Given the description of an element on the screen output the (x, y) to click on. 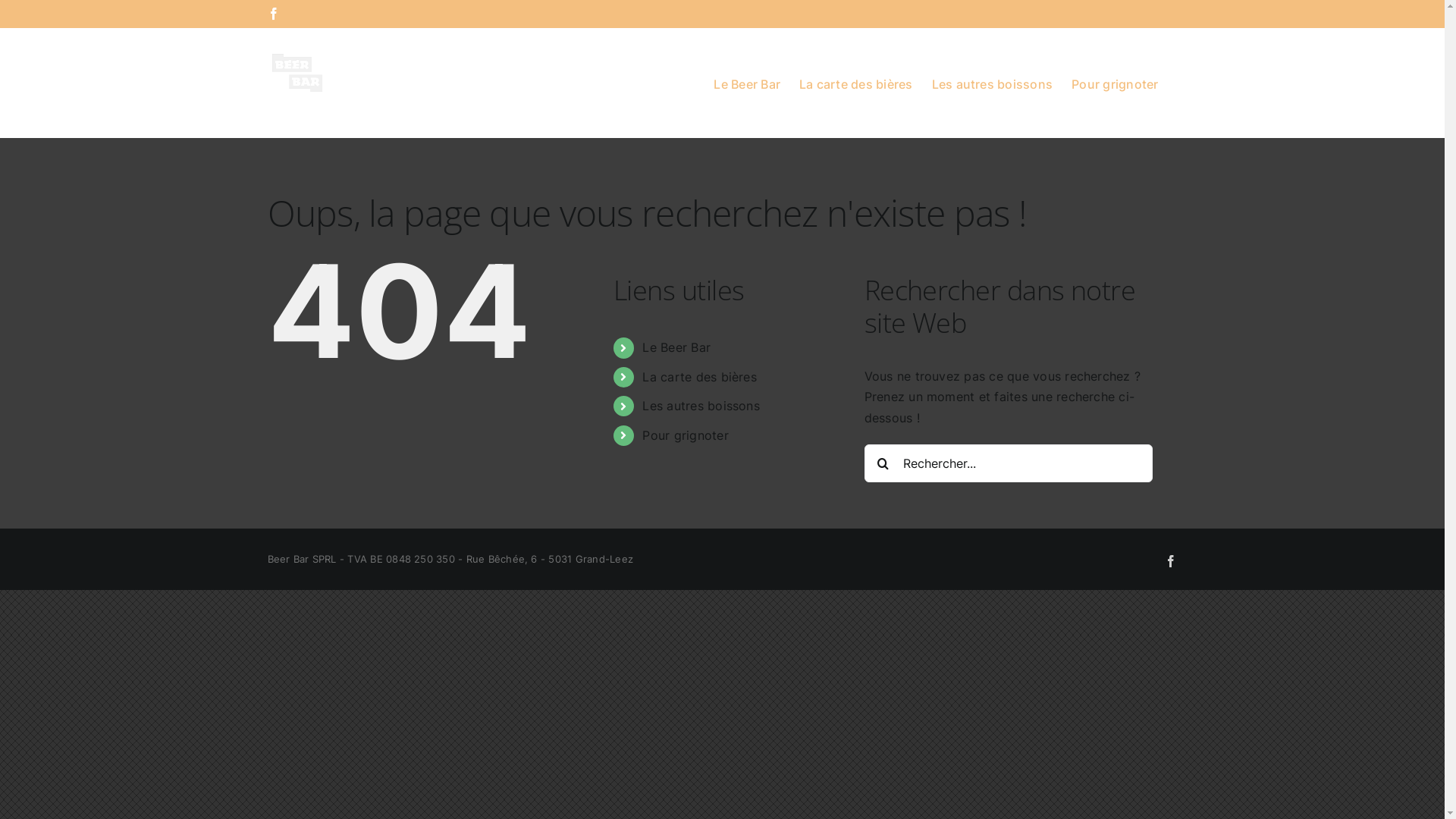
Facebook Element type: text (1170, 561)
Les autres boissons Element type: text (992, 82)
Le Beer Bar Element type: text (746, 82)
Le Beer Bar Element type: text (676, 346)
Les autres boissons Element type: text (700, 405)
Pour grignoter Element type: text (1114, 82)
Facebook Element type: text (272, 13)
Pour grignoter Element type: text (685, 434)
